Given the description of an element on the screen output the (x, y) to click on. 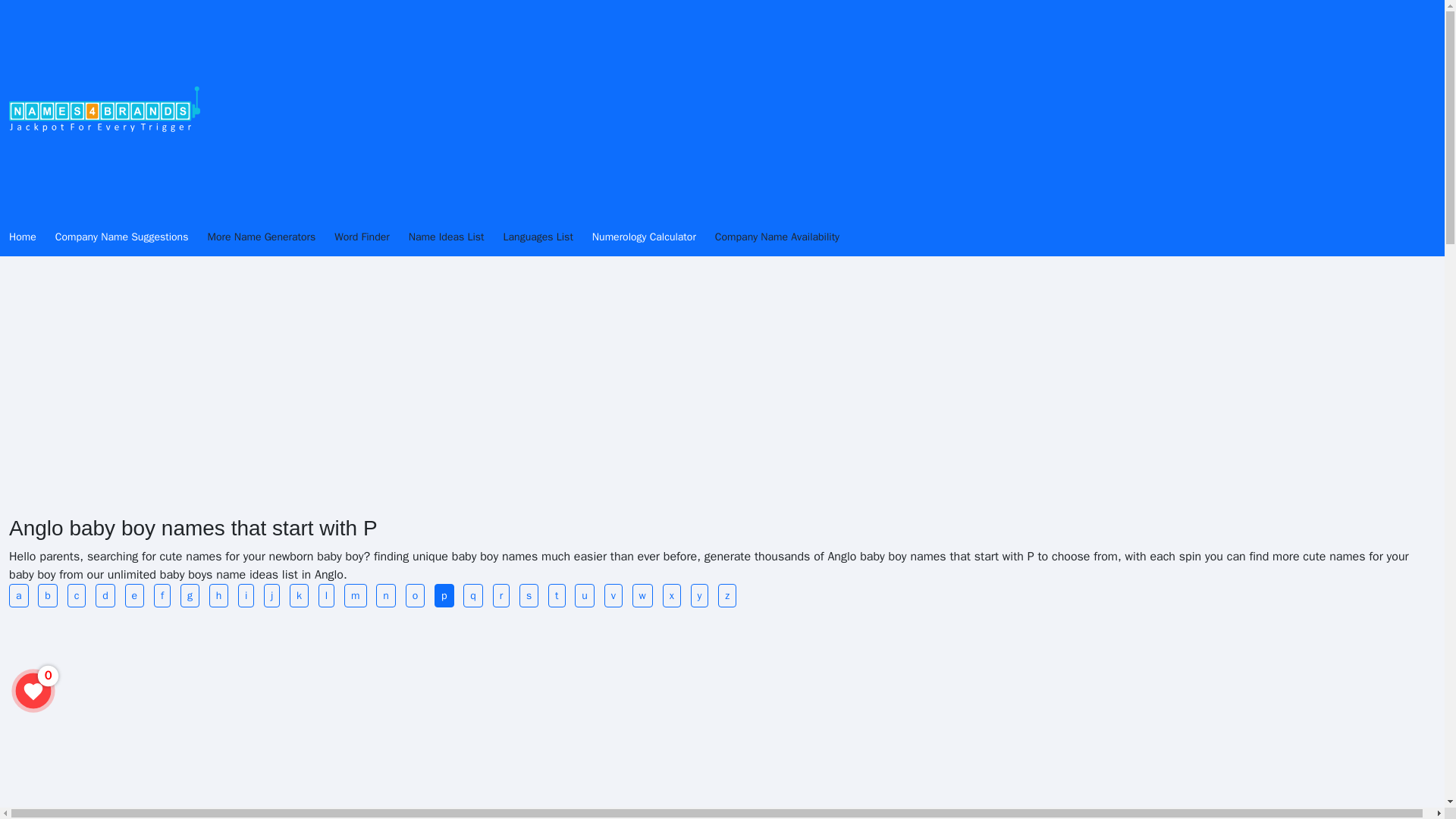
Word Finder (370, 237)
Company Name Suggestions (131, 237)
Home (31, 237)
More Name Generators (270, 237)
